Given the description of an element on the screen output the (x, y) to click on. 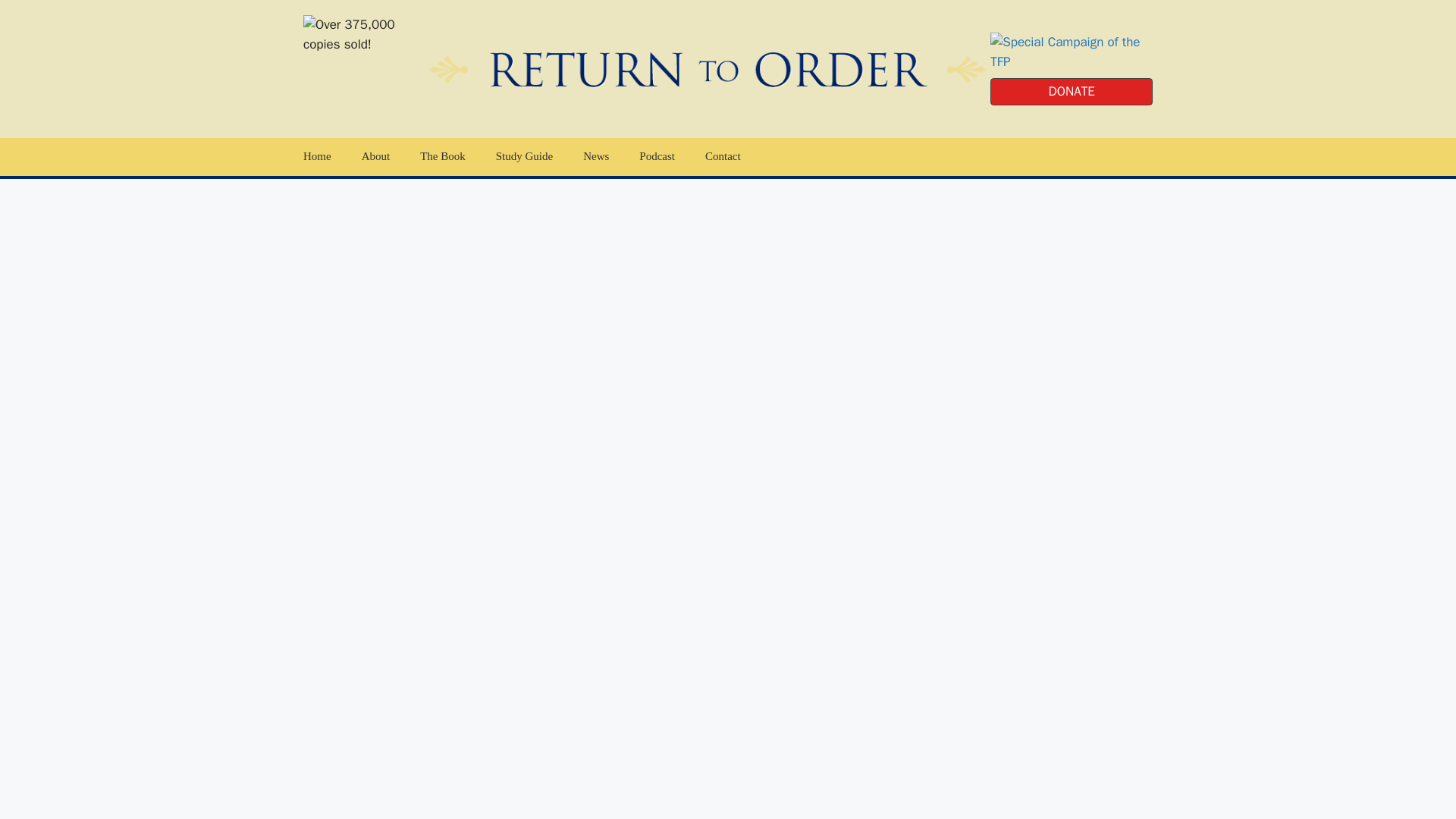
News (595, 157)
Home (317, 157)
Study Guide (523, 157)
DONATE (1071, 91)
The Book (442, 157)
About (376, 157)
Podcast (521, 157)
